Given the description of an element on the screen output the (x, y) to click on. 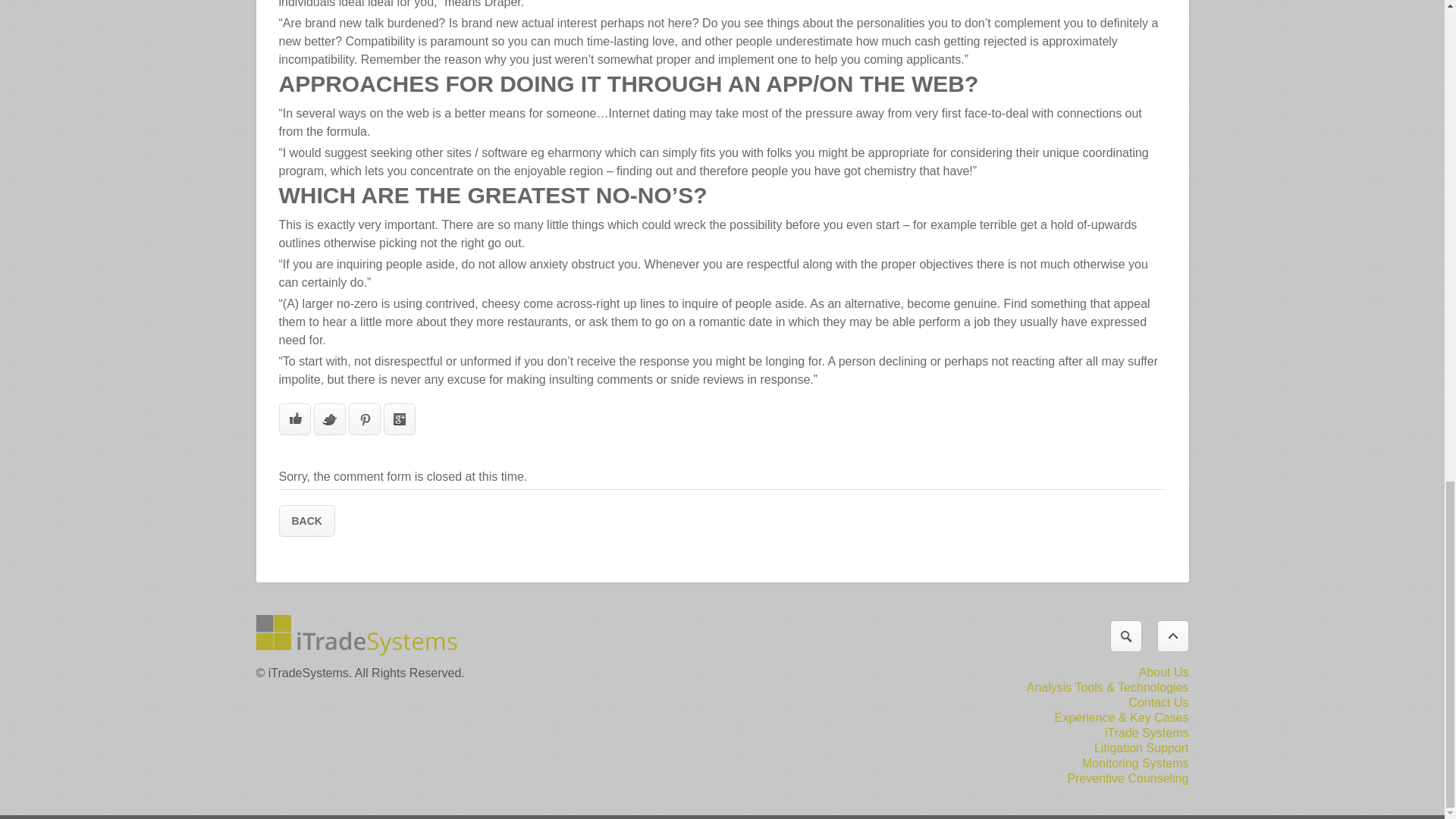
About Us (1163, 671)
Preventive Counseling (1127, 778)
iTrade Systems (1147, 732)
Contact Us (1158, 702)
Litigation Support (1141, 748)
BACK (306, 521)
Monitoring Systems (1135, 762)
